Given the description of an element on the screen output the (x, y) to click on. 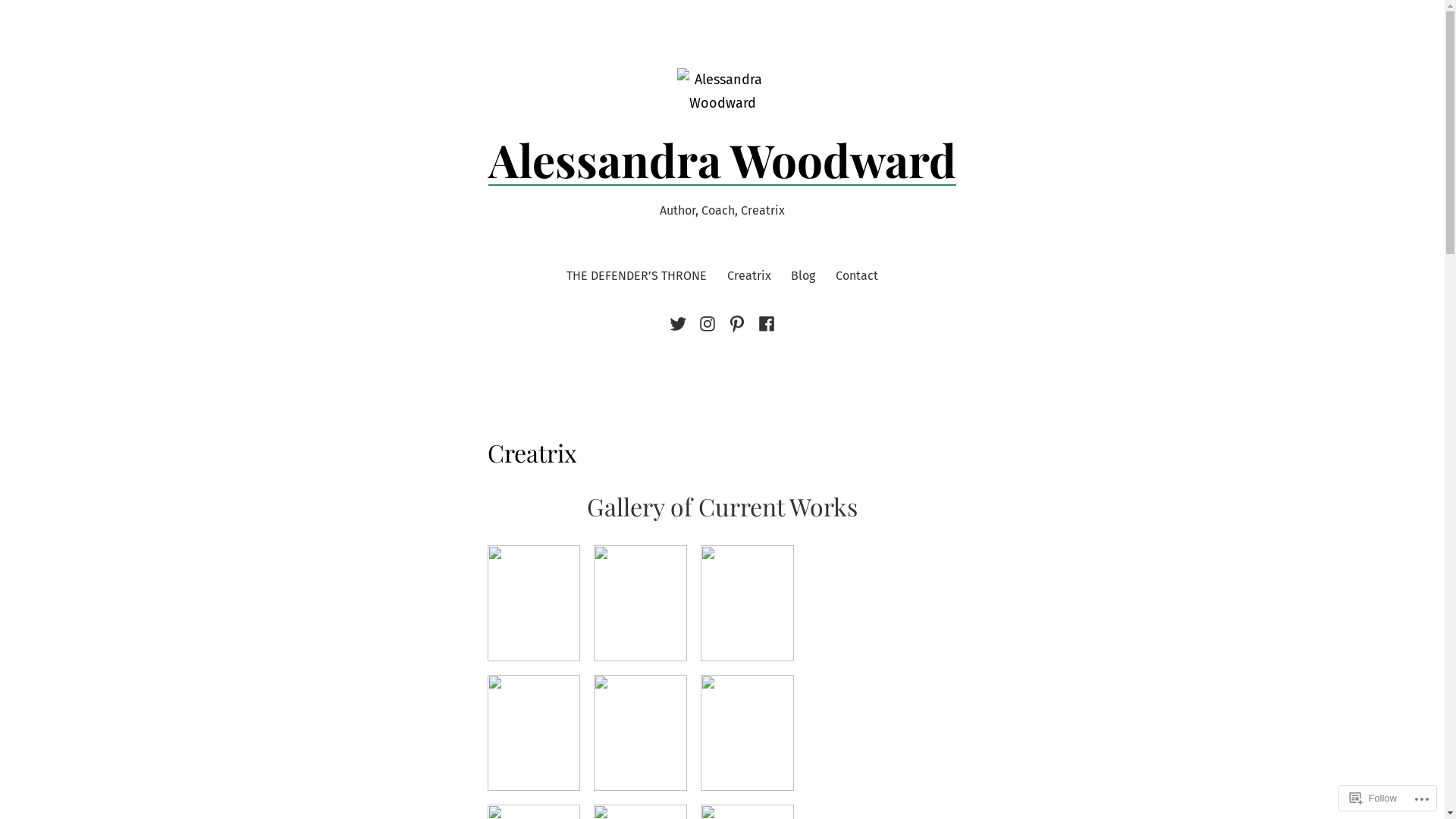
Follow Element type: text (1372, 797)
Contact Element type: text (856, 275)
Alessandra Woodward Element type: text (722, 158)
Creatrix Element type: text (749, 275)
Blog Element type: text (802, 275)
